Given the description of an element on the screen output the (x, y) to click on. 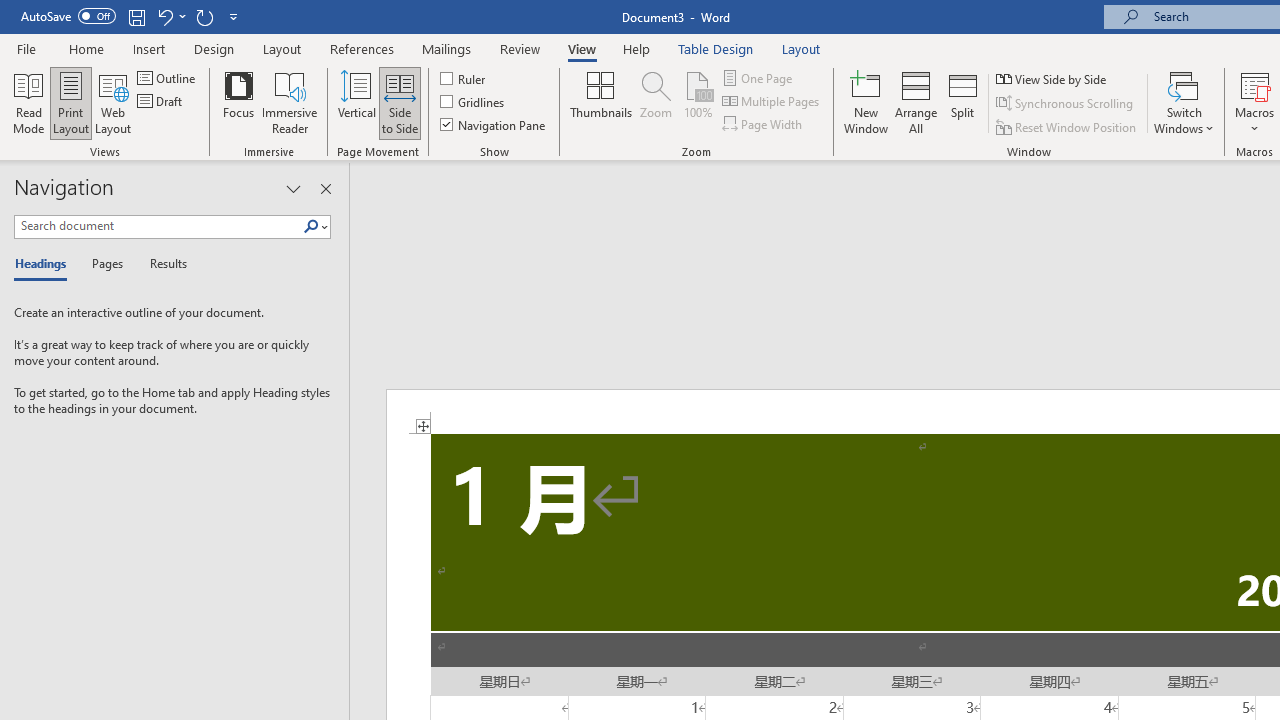
Thumbnails (601, 102)
View (582, 48)
Web Layout (113, 102)
Quick Access Toolbar (131, 16)
Class: NetUIImage (311, 226)
Switch Windows (1184, 102)
Read Mode (28, 102)
Gridlines (473, 101)
Undo Increase Indent (170, 15)
Zoom... (655, 102)
View Macros (1254, 84)
Layout (801, 48)
